Given the description of an element on the screen output the (x, y) to click on. 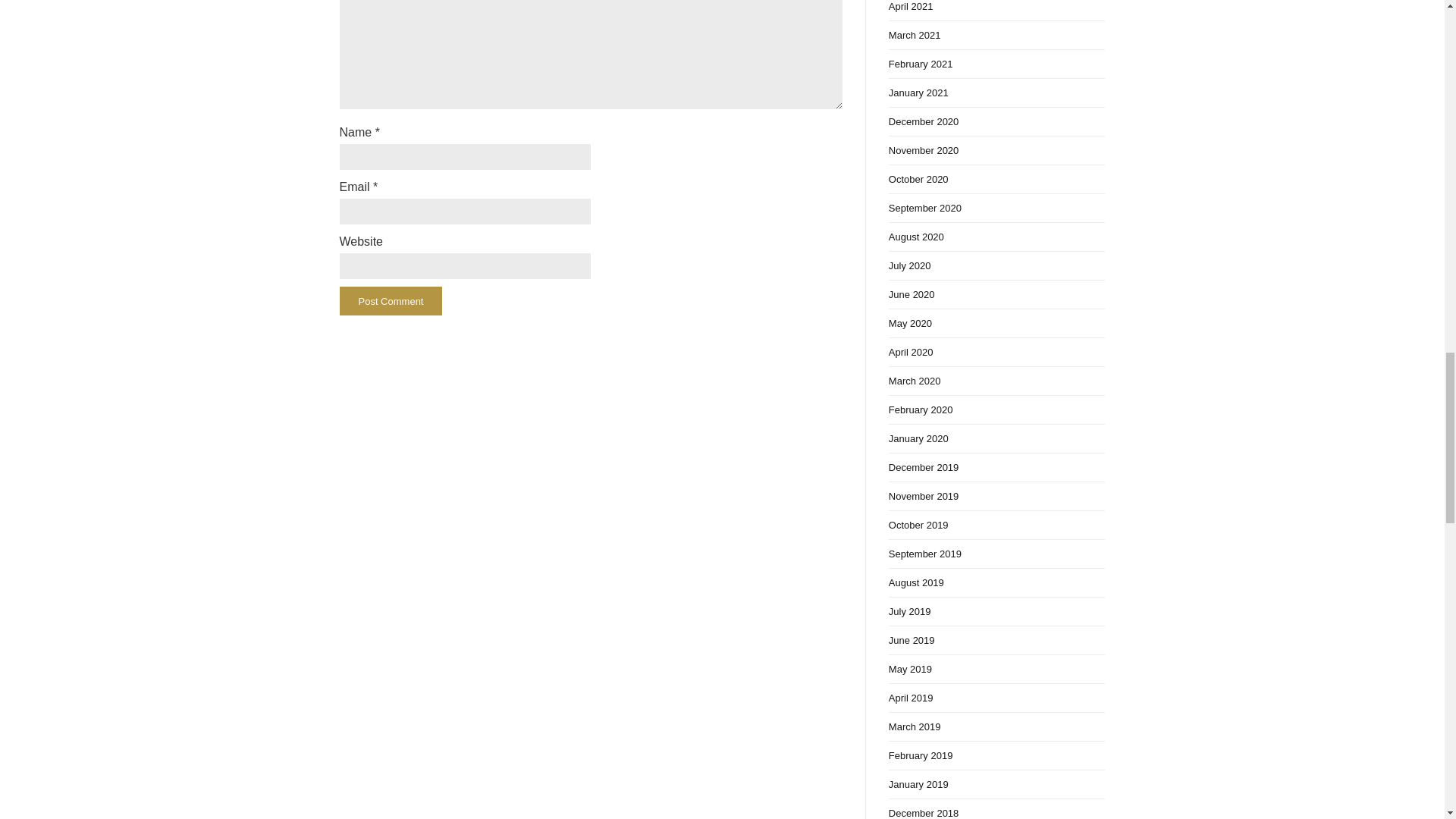
Post Comment (390, 300)
Post Comment (390, 300)
